Given the description of an element on the screen output the (x, y) to click on. 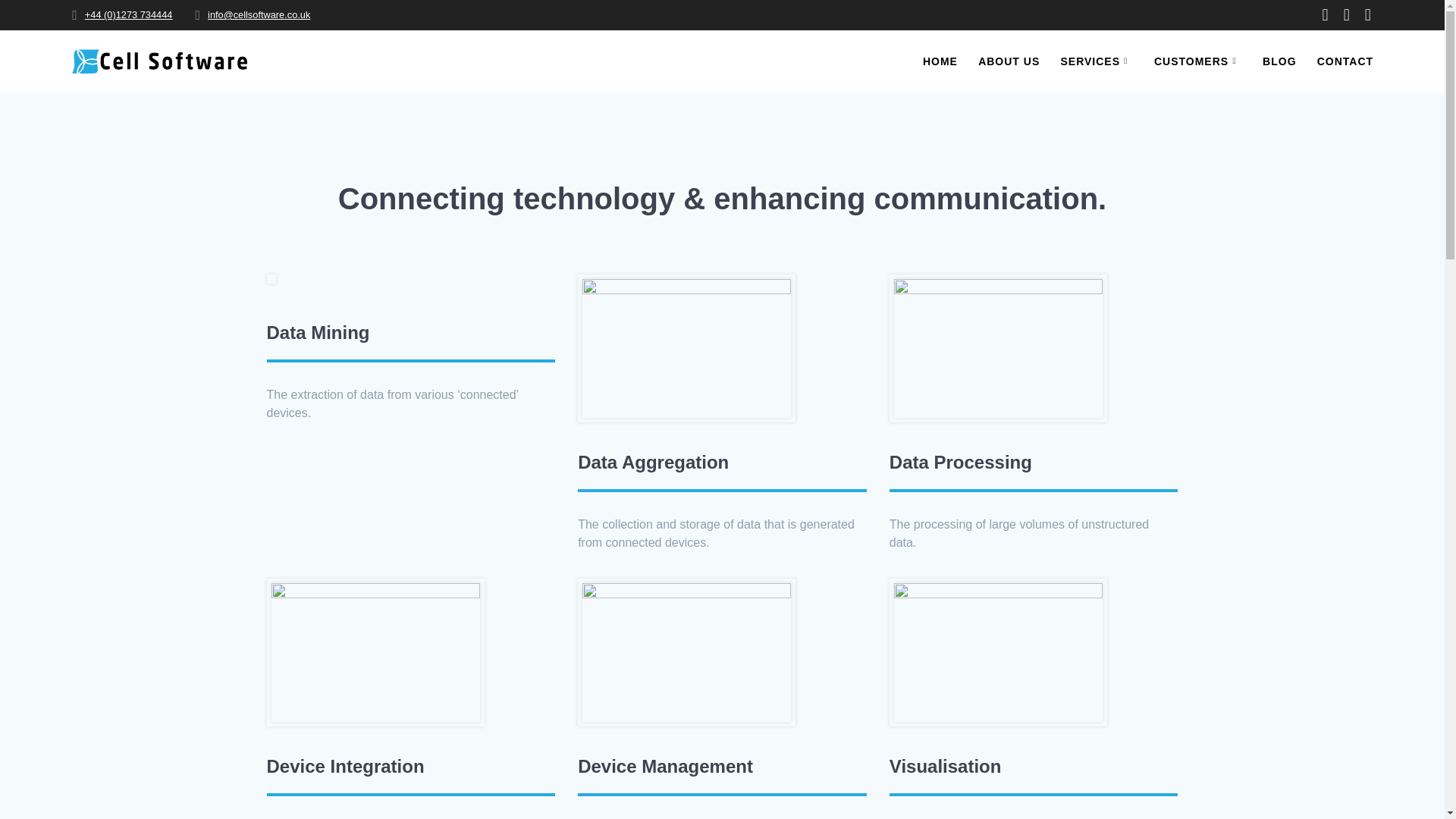
HOME (940, 61)
CONTACT (1345, 61)
CUSTOMERS (1197, 61)
SERVICES (1095, 61)
ABOUT US (1008, 61)
BLOG (1278, 61)
